Given the description of an element on the screen output the (x, y) to click on. 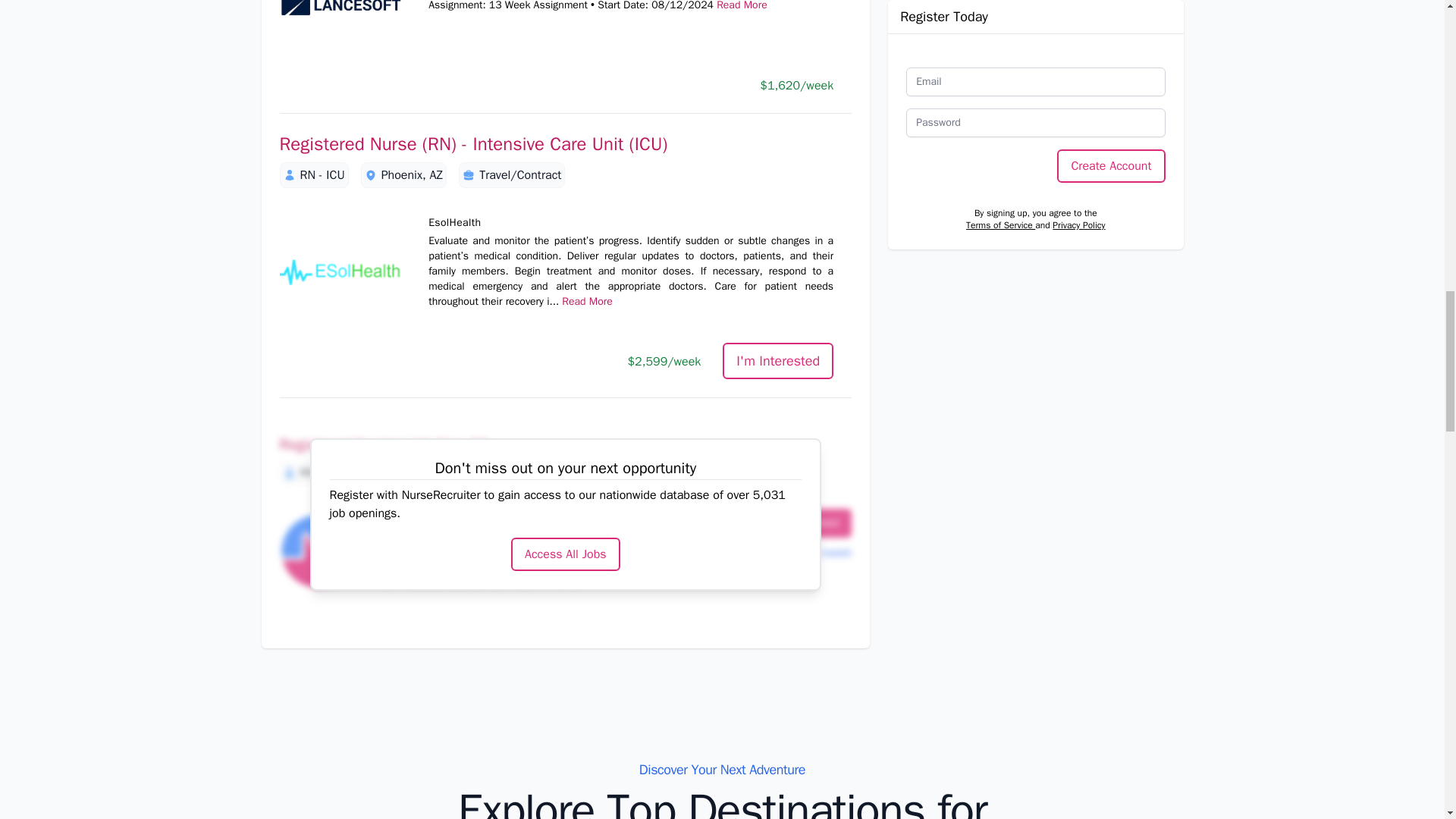
Lancesoft INC (339, 33)
Read More (741, 5)
Access All Jobs (565, 553)
I'm Interested (777, 361)
EsolHealth (339, 272)
Read More (587, 300)
